Given the description of an element on the screen output the (x, y) to click on. 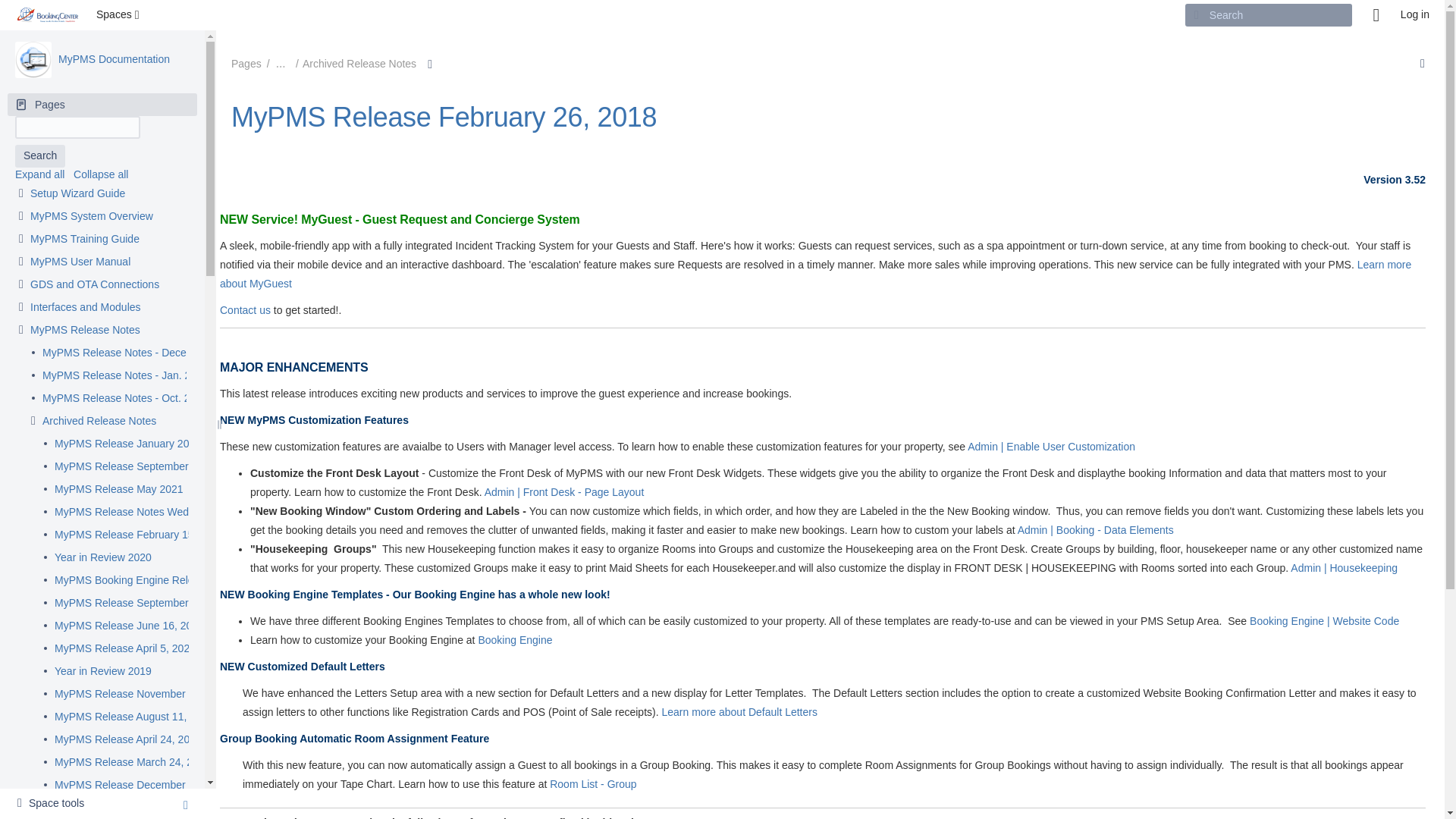
MyPMS Documentation (32, 59)
MyPMS Release Notes - Jan. 2023 (125, 376)
MyPMS System Overview (91, 216)
MyPMS Release Notes (84, 330)
Help (1376, 15)
Collapse all (101, 174)
Search (39, 155)
Interfaces and Modules (85, 307)
MyPMS Release Notes - December 2023 (139, 353)
GDS and OTA Connections (94, 284)
Pages (101, 104)
MyPMS User Manual (80, 262)
MyPMS Documentation (114, 59)
Expand all (39, 174)
Help (1376, 15)
